Given the description of an element on the screen output the (x, y) to click on. 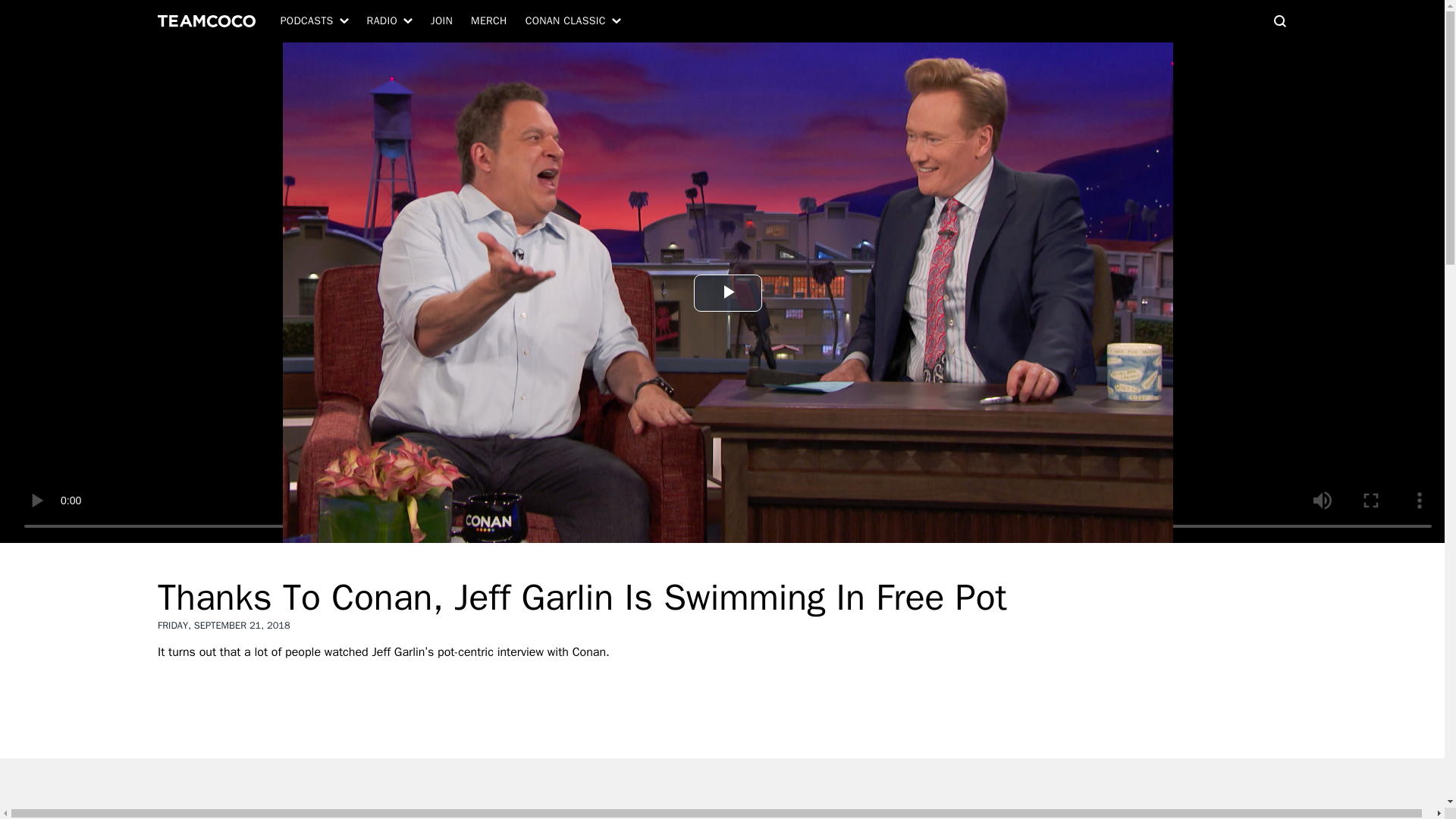
MERCH (488, 21)
Team Coco (206, 21)
JOIN (441, 21)
Play Video (727, 293)
CONAN CLASSIC (573, 20)
Play Video (727, 293)
PODCASTS (314, 20)
RADIO (390, 20)
